Given the description of an element on the screen output the (x, y) to click on. 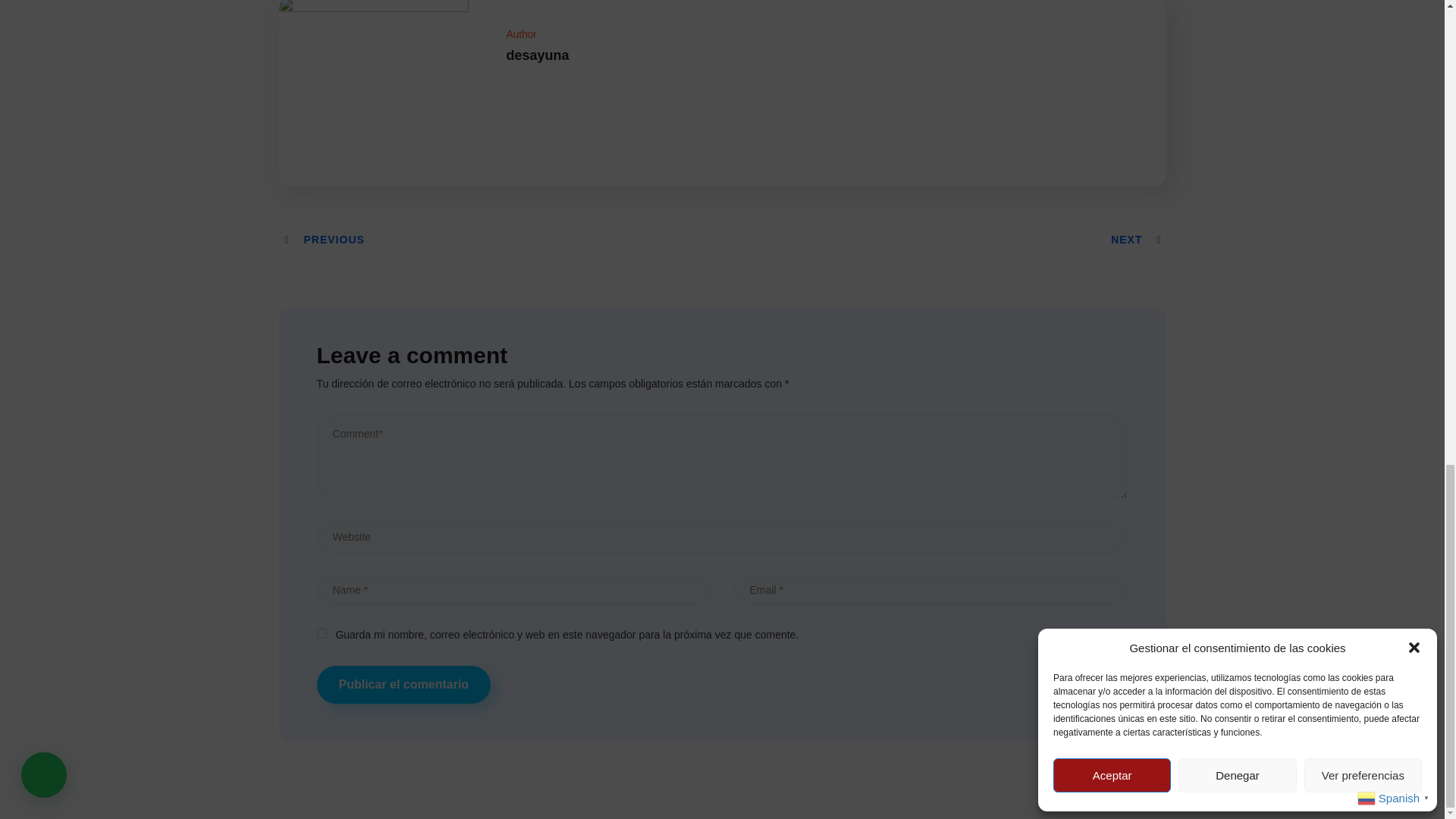
PREVIOUS (323, 239)
NEXT (1138, 239)
Publicar el comentario (404, 684)
yes (321, 633)
Publicar el comentario (404, 684)
